Given the description of an element on the screen output the (x, y) to click on. 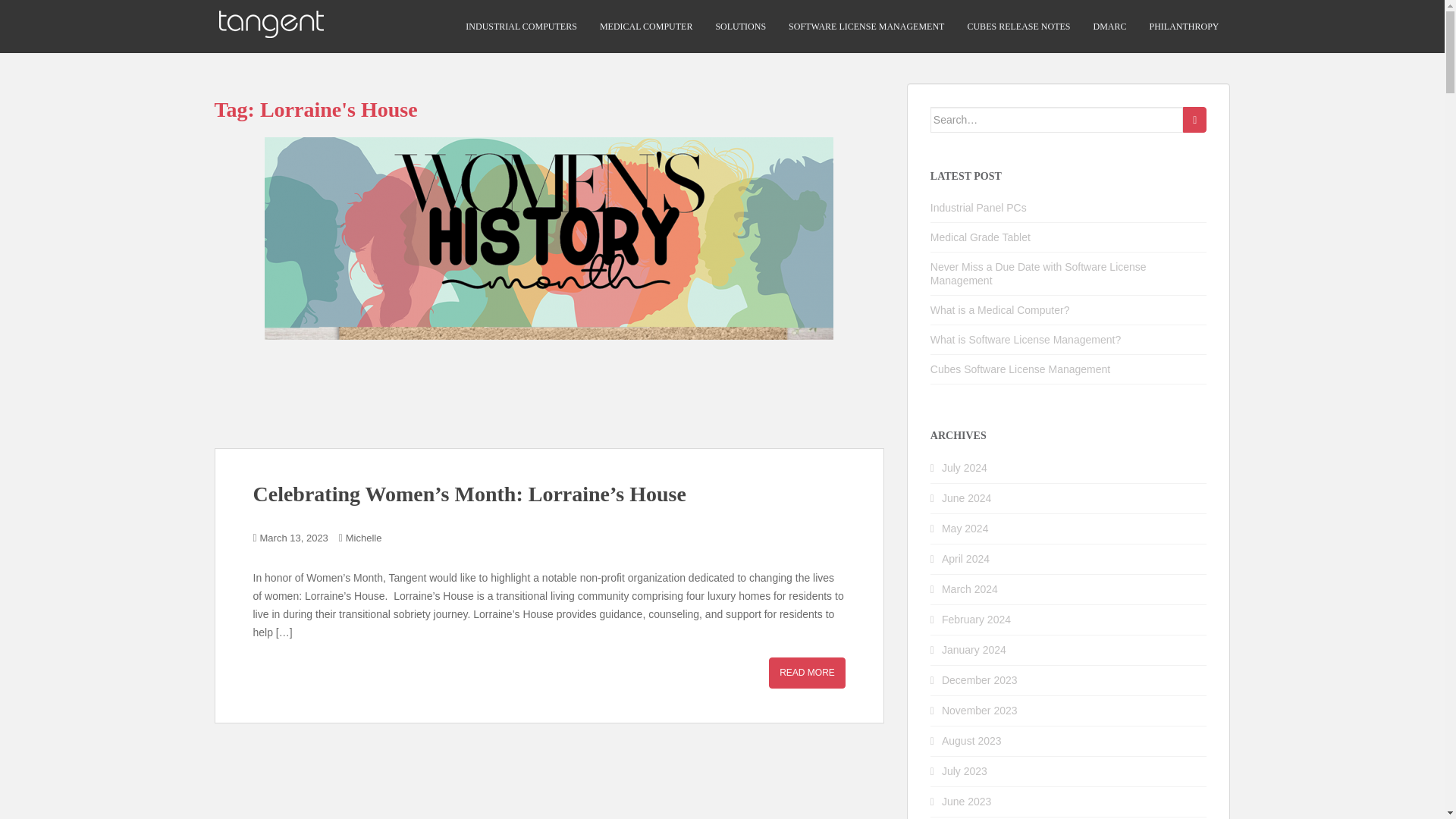
Never Miss a Due Date with Software License Management (1038, 273)
PHILANTHROPY (1183, 26)
February 2024 (976, 619)
SOLUTIONS (739, 26)
July 2024 (964, 467)
SOFTWARE LICENSE MANAGEMENT (866, 26)
June 2024 (966, 498)
November 2023 (979, 710)
April 2024 (966, 558)
March 13, 2023 (294, 537)
